Given the description of an element on the screen output the (x, y) to click on. 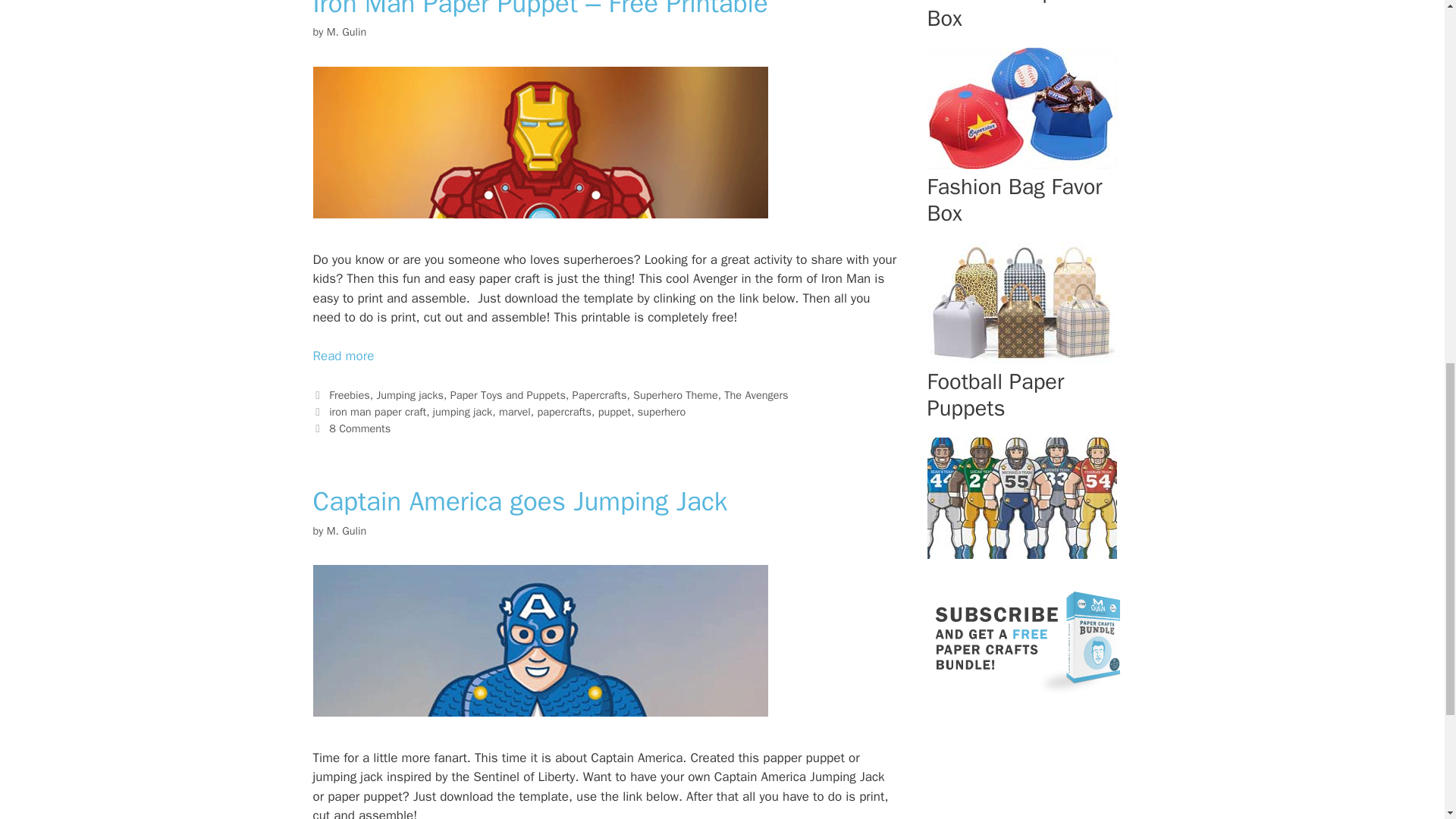
M. Gulin (346, 31)
View all posts by M. Gulin (346, 530)
View all posts by M. Gulin (346, 31)
Read more (343, 355)
